Given the description of an element on the screen output the (x, y) to click on. 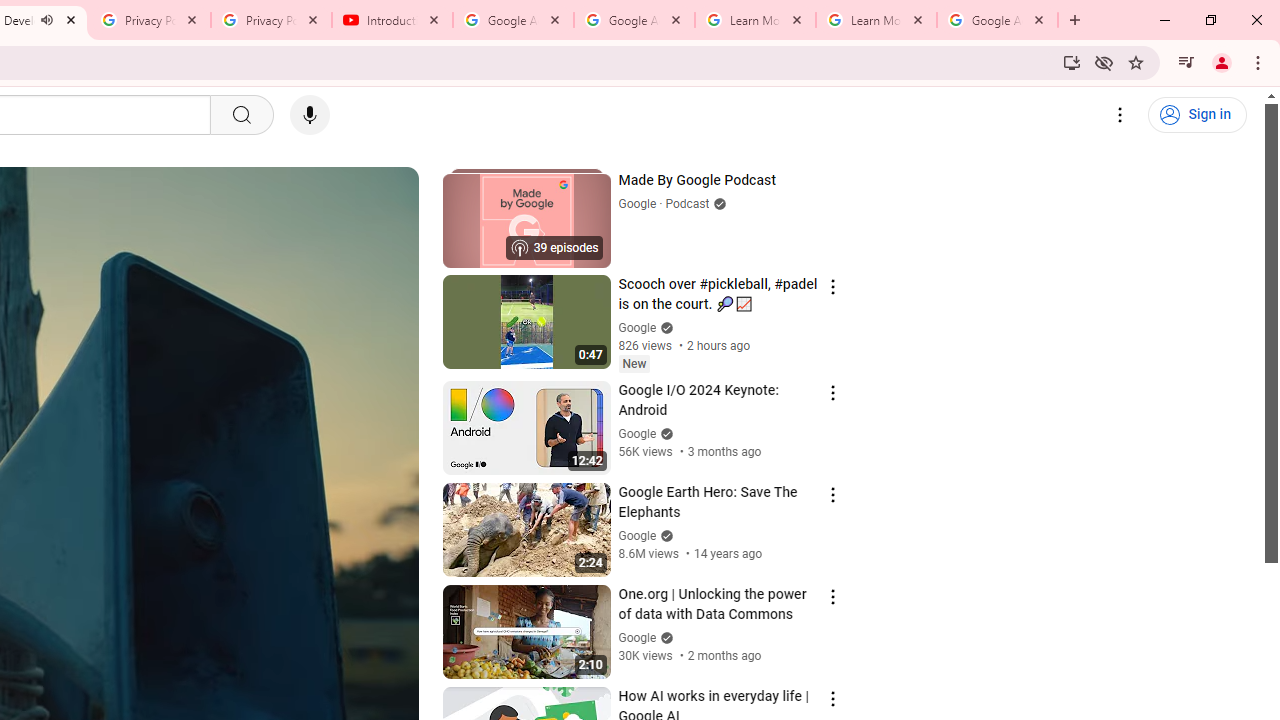
Google Account Help (634, 20)
Install YouTube (1071, 62)
Google Account Help (513, 20)
Google Account (997, 20)
